Given the description of an element on the screen output the (x, y) to click on. 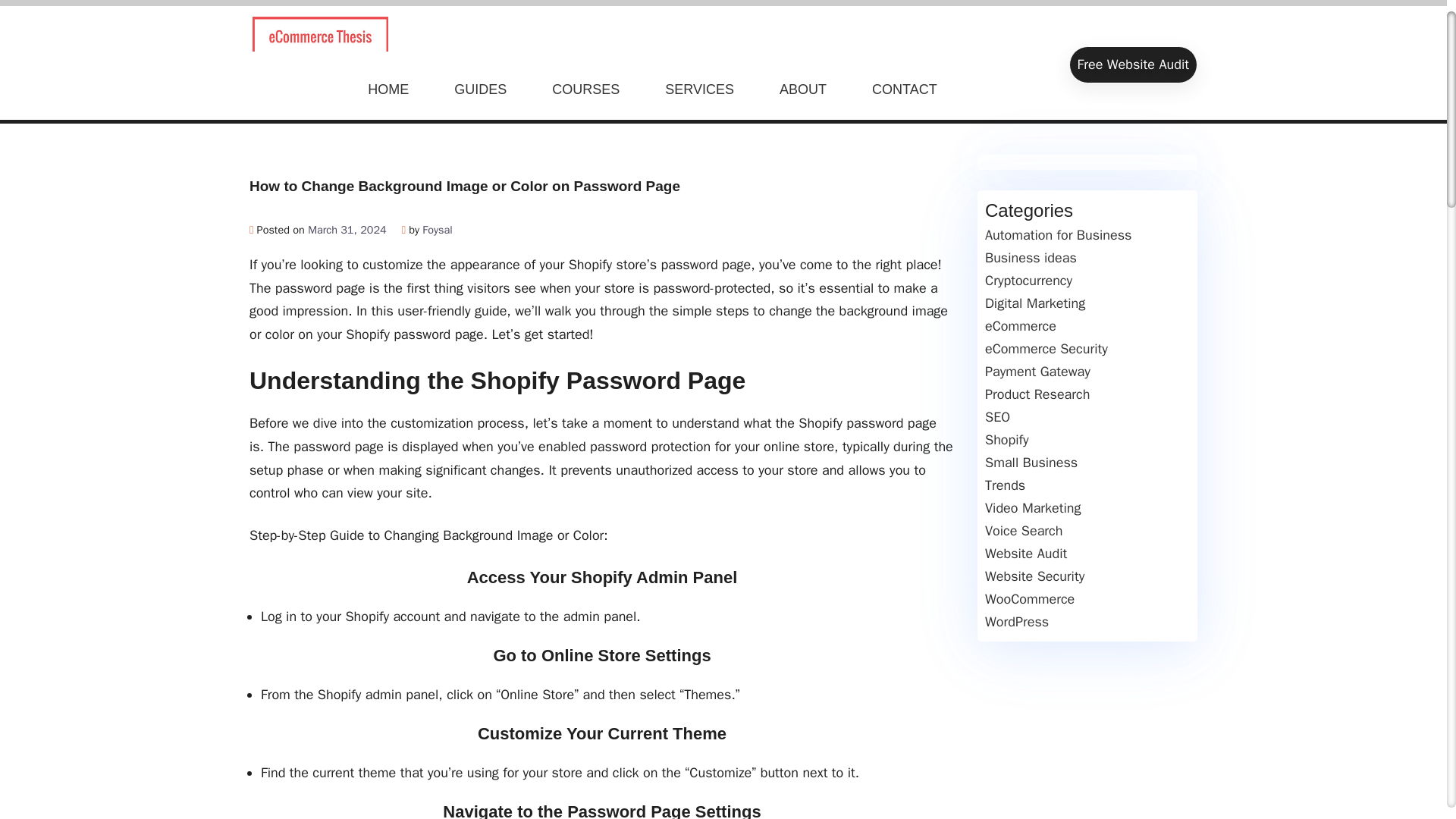
ABOUT (802, 88)
Website Security (1034, 576)
Product Research (1037, 393)
CONTACT (903, 88)
eCommerce Security (1046, 348)
COURSES (585, 88)
HOME (387, 88)
Video Marketing (1033, 507)
Foysal (436, 229)
HOME (387, 88)
Free Website Audit (1132, 64)
Website Audit (1026, 553)
Cryptocurrency (1028, 280)
About (802, 88)
Guides (479, 88)
